Given the description of an element on the screen output the (x, y) to click on. 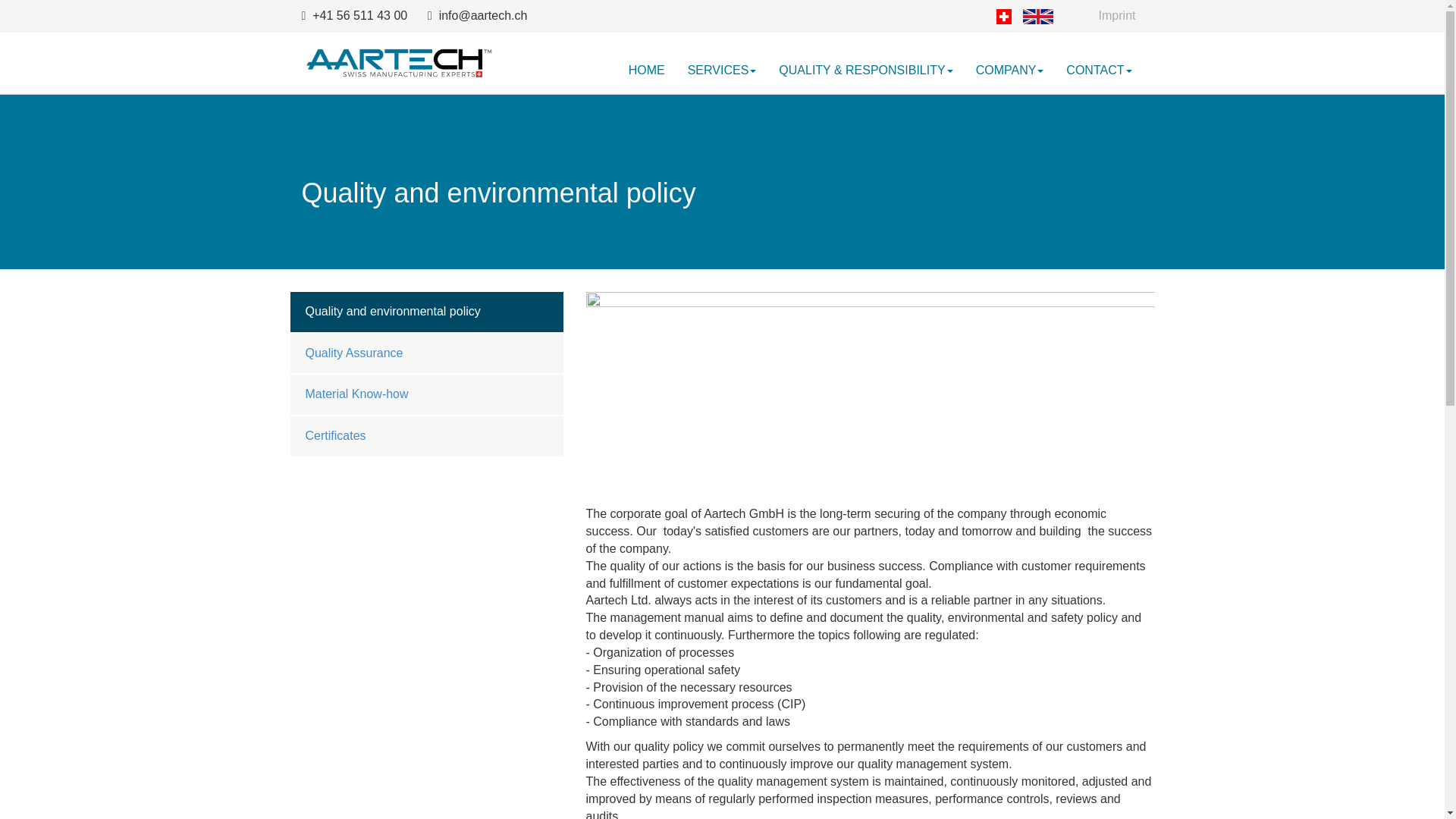
Material Know-how Element type: text (356, 394)
CONTACT Element type: text (1098, 70)
Quality and environmental policy Element type: text (392, 311)
Quality Assurance Element type: text (353, 353)
HOME Element type: text (646, 70)
Show this Website in German language Element type: hover (1003, 16)
Show this Website in English language Element type: hover (1037, 16)
Certificates Element type: text (334, 436)
Imprint Element type: text (1117, 16)
SERVICES Element type: text (722, 70)
COMPANY Element type: text (1009, 70)
QUALITY & RESPONSIBILITY Element type: text (865, 70)
